Given the description of an element on the screen output the (x, y) to click on. 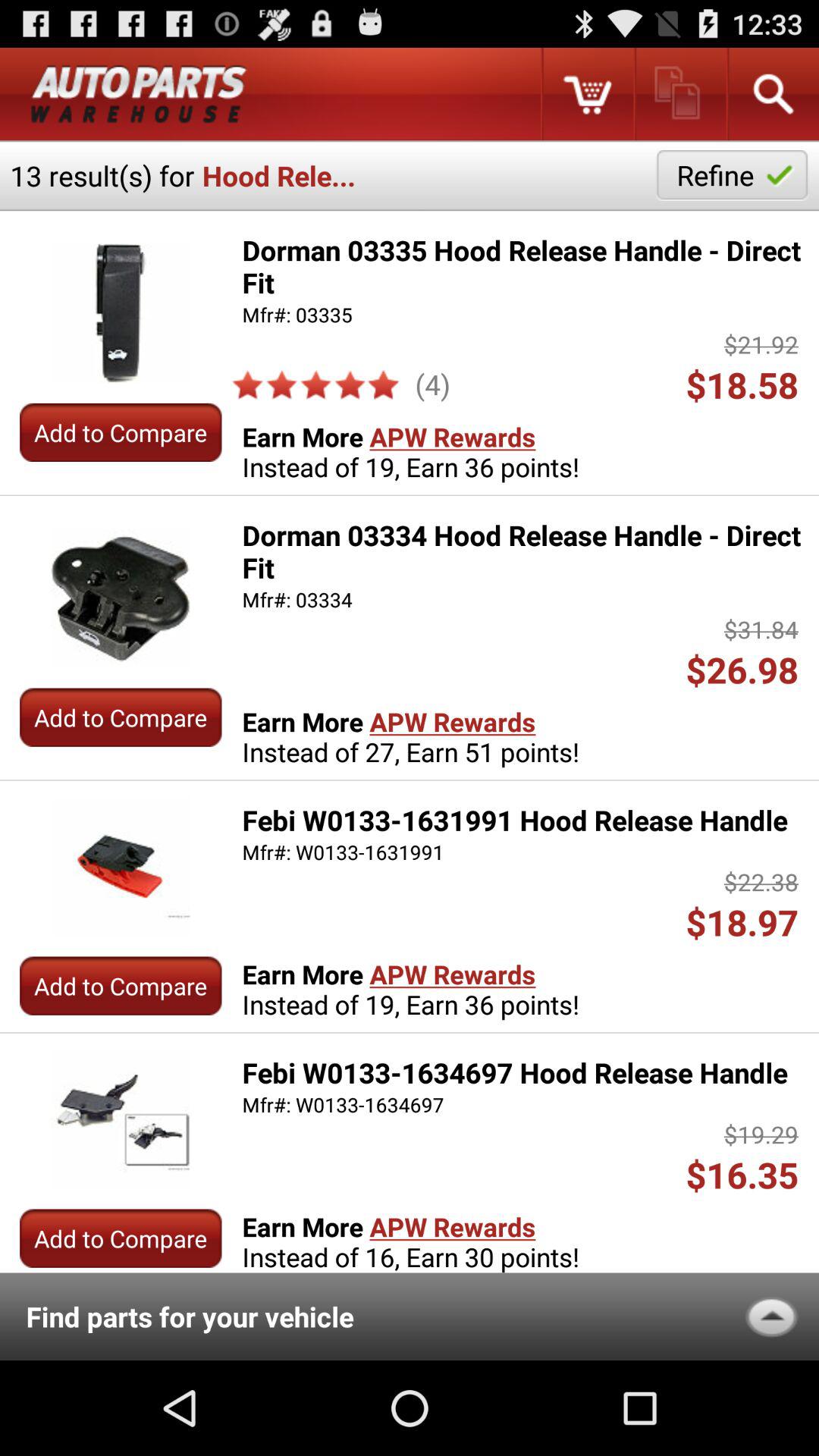
return to main menu (138, 93)
